Given the description of an element on the screen output the (x, y) to click on. 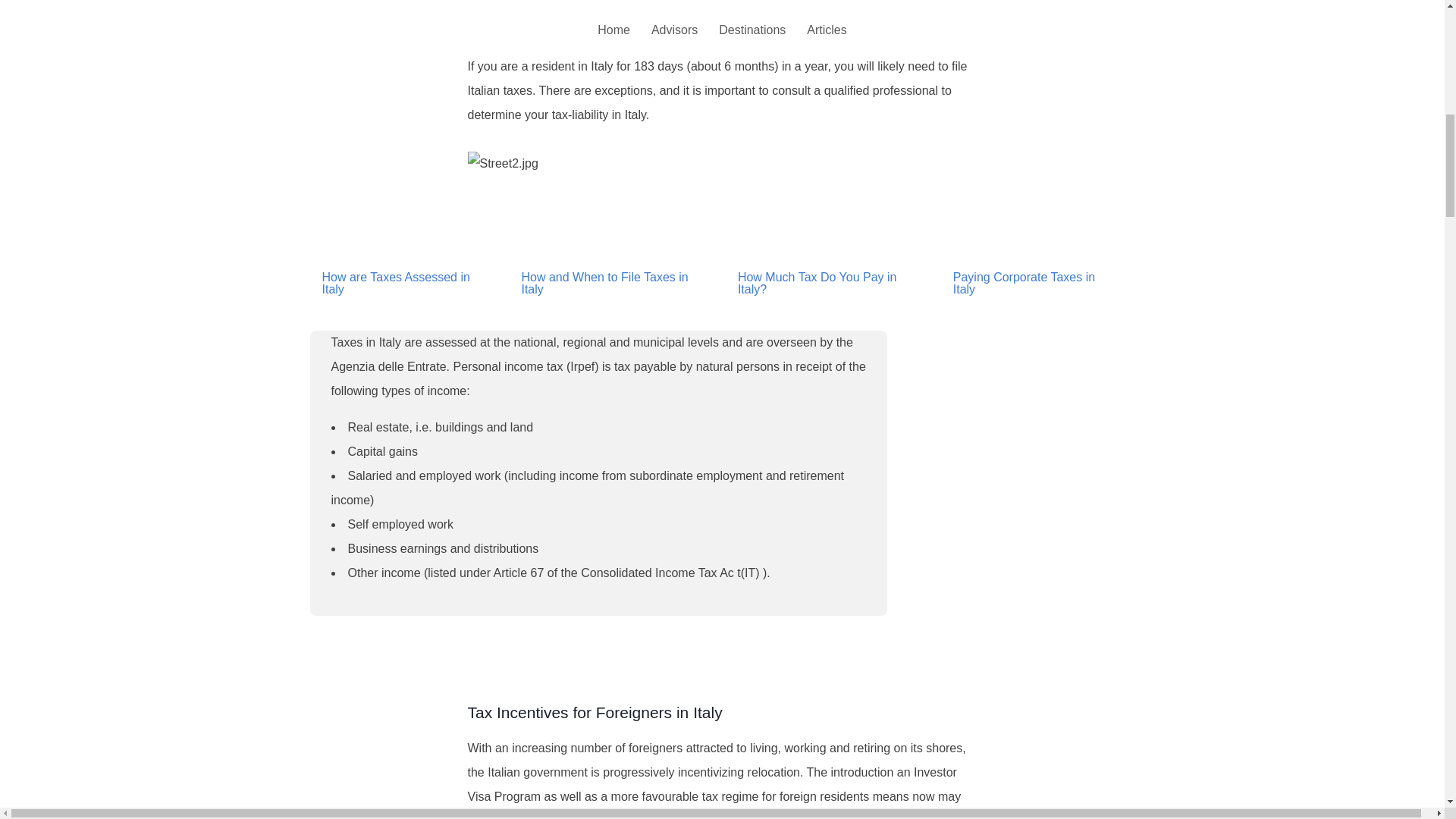
How and When to File Taxes in Italy (607, 283)
Paying Corporate Taxes in Italy (1028, 283)
How are Taxes Assessed in Italy (399, 283)
How Much Tax Do You Pay in Italy? (824, 283)
